Given the description of an element on the screen output the (x, y) to click on. 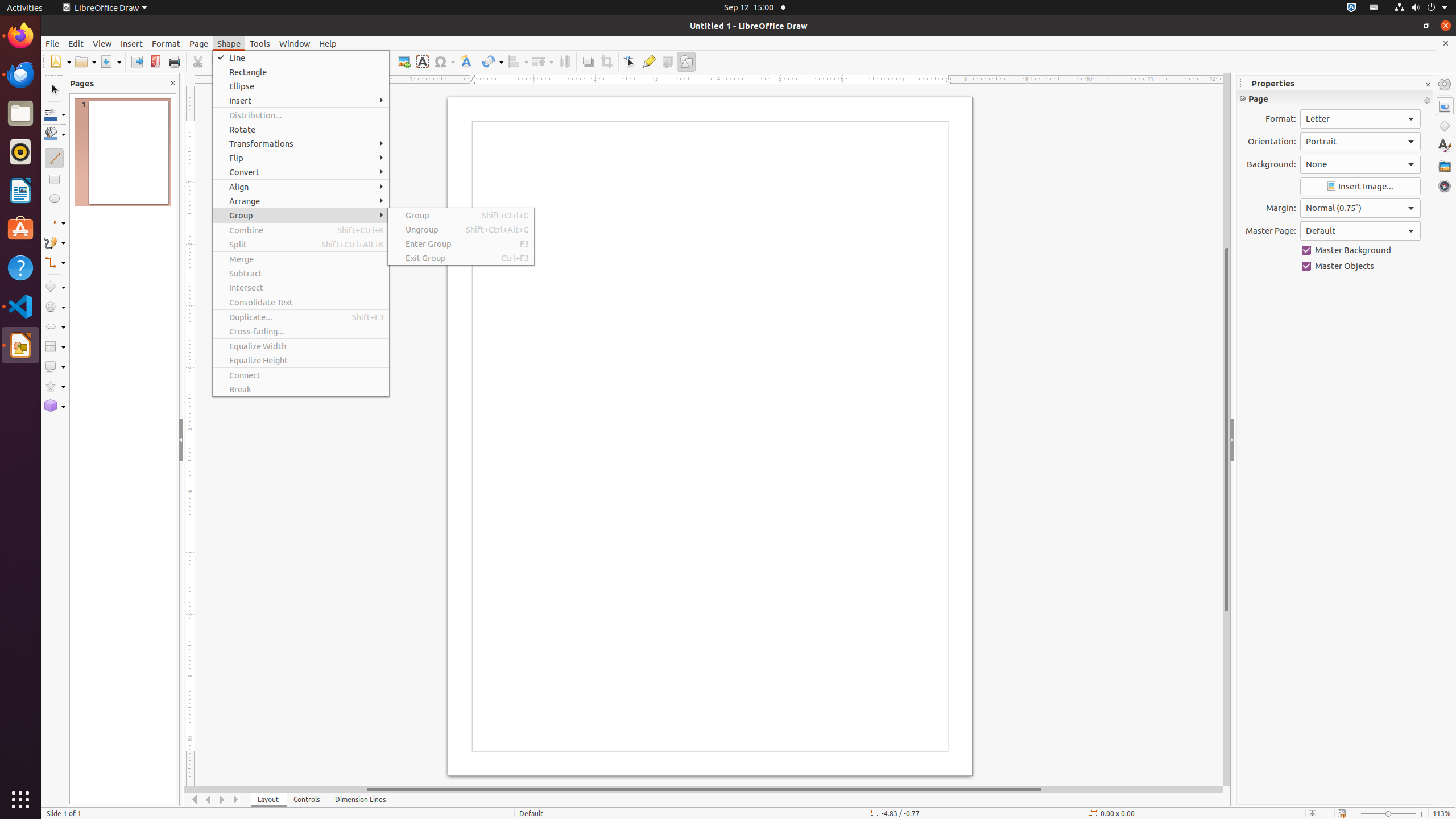
Arrange Element type: menu (300, 200)
Combine Element type: menu-item (300, 229)
Align Element type: push-button (517, 61)
Shapes Element type: radio-button (1444, 126)
Gallery Element type: radio-button (1444, 165)
